Given the description of an element on the screen output the (x, y) to click on. 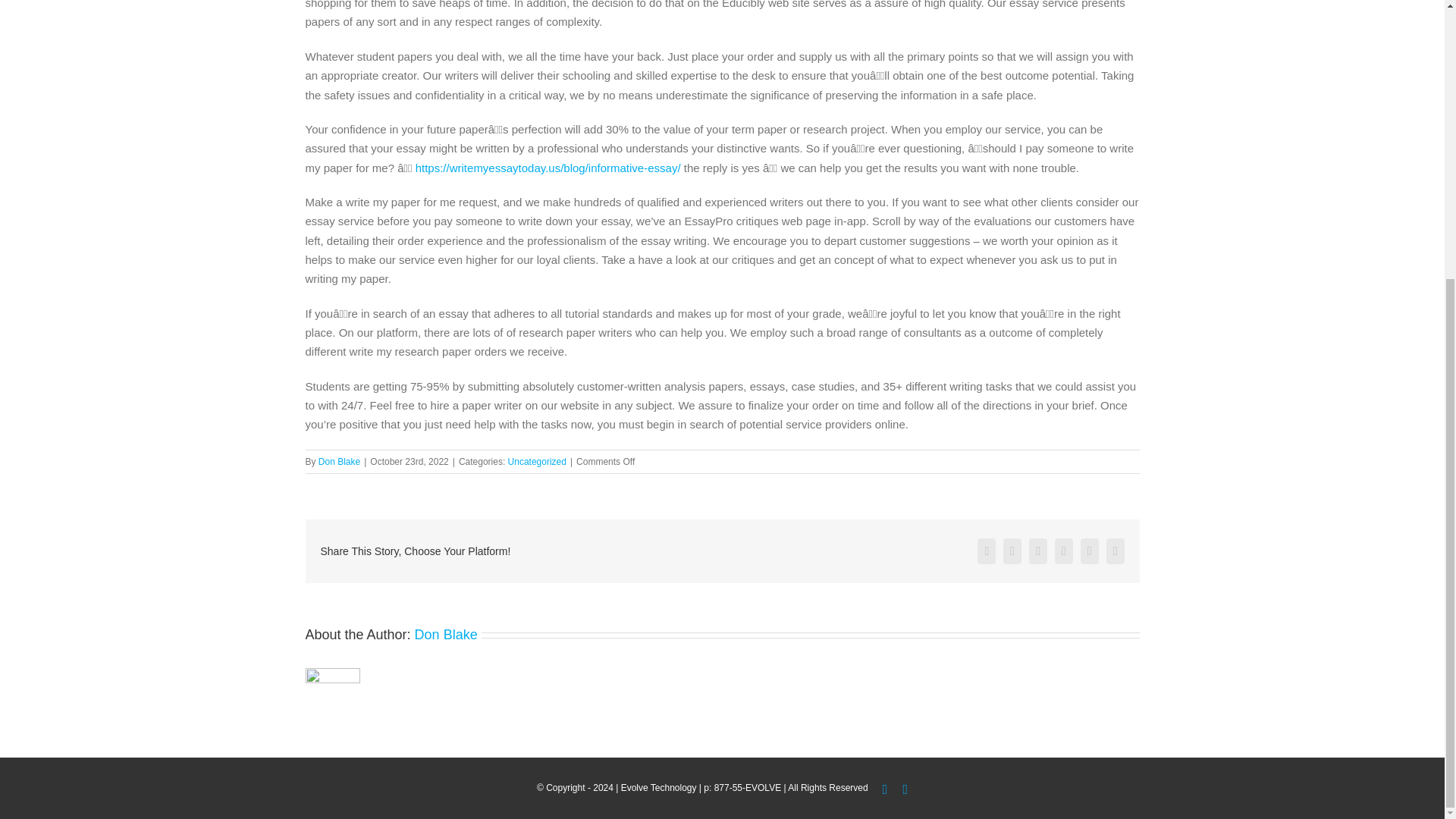
Posts by Don Blake (338, 461)
Don Blake (445, 634)
Don Blake (338, 461)
Posts by Don Blake (445, 634)
Uncategorized (537, 461)
